Given the description of an element on the screen output the (x, y) to click on. 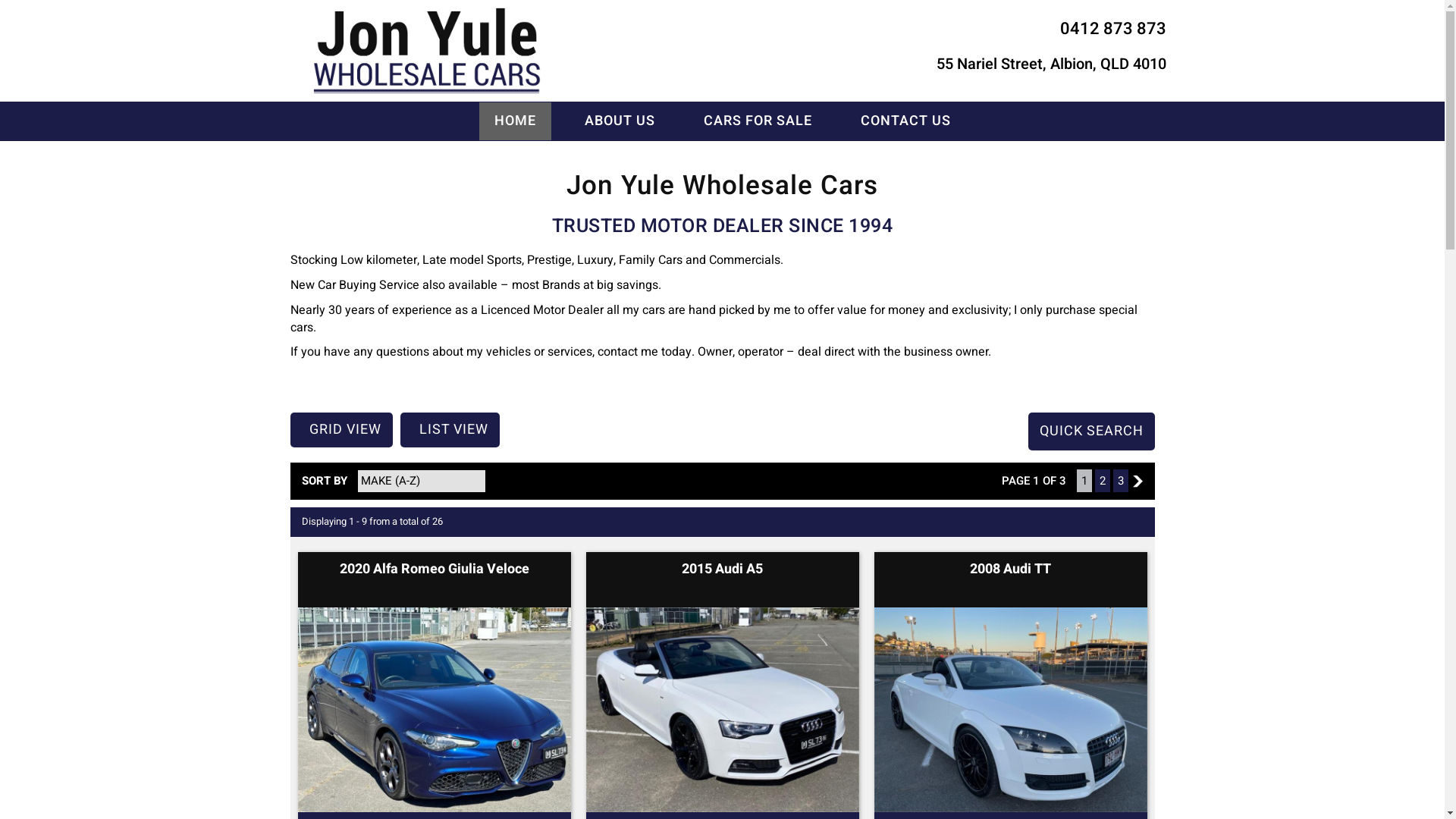
1 Element type: text (1084, 480)
HOME Element type: text (515, 121)
GRID VIEW Element type: text (340, 429)
ABOUT US Element type: text (618, 121)
2008 Audi TT Element type: text (1010, 568)
2020 Alfa Romeo Giulia Veloce Element type: text (434, 568)
LIST VIEW Element type: text (449, 429)
0412 873 873 Element type: text (1113, 28)
CONTACT US Element type: text (904, 121)
3 Element type: text (1120, 480)
55 Nariel Street, Albion, QLD 4010 Element type: text (1050, 64)
2 Element type: text (1102, 480)
2015 Audi A5 Element type: text (721, 568)
QUICK SEARCH Element type: text (1091, 431)
CARS FOR SALE Element type: text (757, 121)
2 Element type: text (1137, 481)
